Given the description of an element on the screen output the (x, y) to click on. 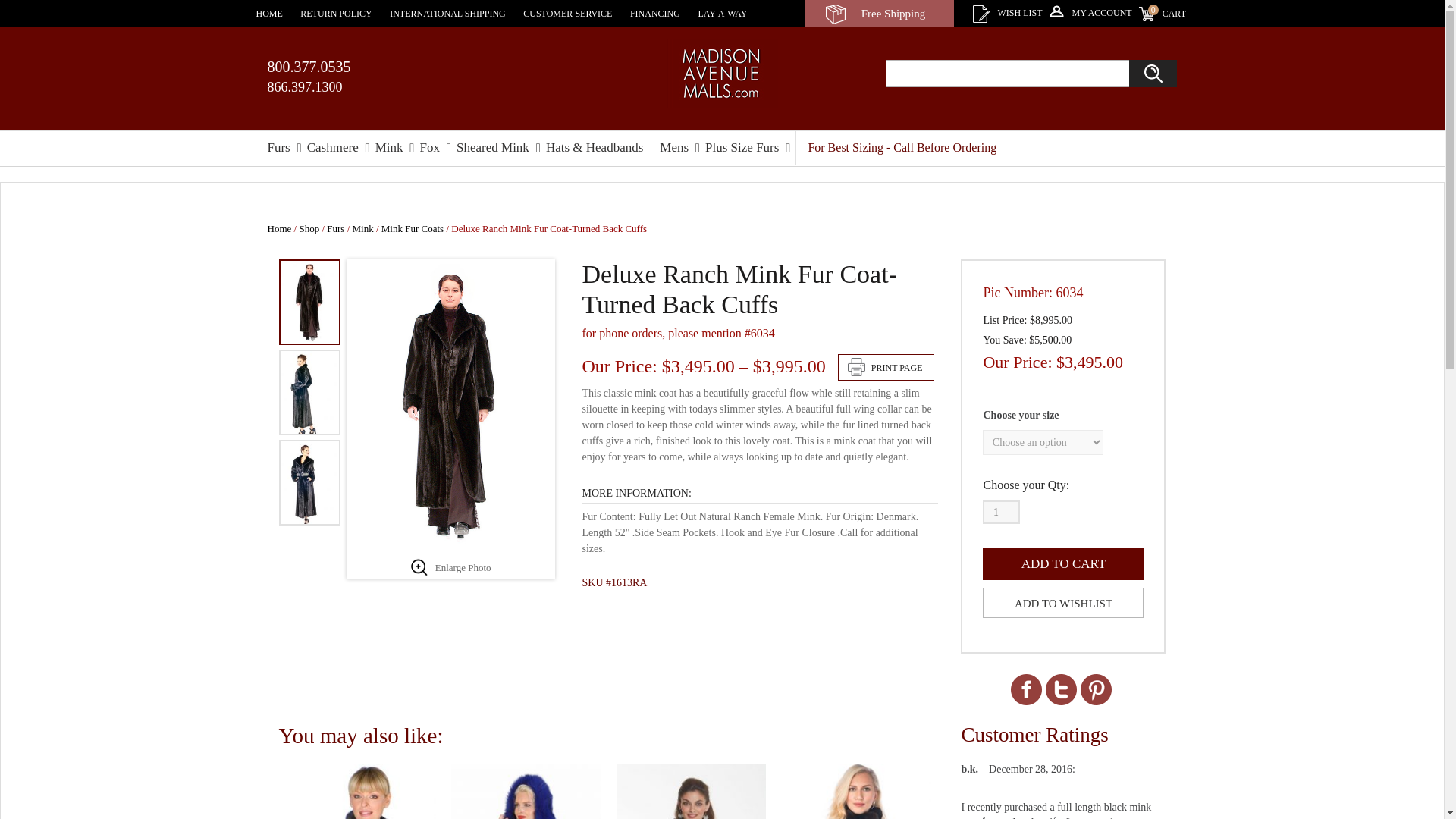
HOME (269, 13)
LAY-A-WAY (721, 13)
Search (1152, 72)
1 (1001, 512)
FINANCING (654, 13)
Sheared-Mink-Vest-Reversible-to-Fabric-Brown (361, 791)
RETURN POLICY (335, 13)
Free Shipping (879, 13)
CUSTOMER SERVICE (566, 13)
WISH LIST (1007, 13)
MY ACCOUNT (1090, 13)
866.397.1300 (304, 87)
1954-sabl-brnz-4814 (1162, 13)
800.377.0535 (690, 791)
